Given the description of an element on the screen output the (x, y) to click on. 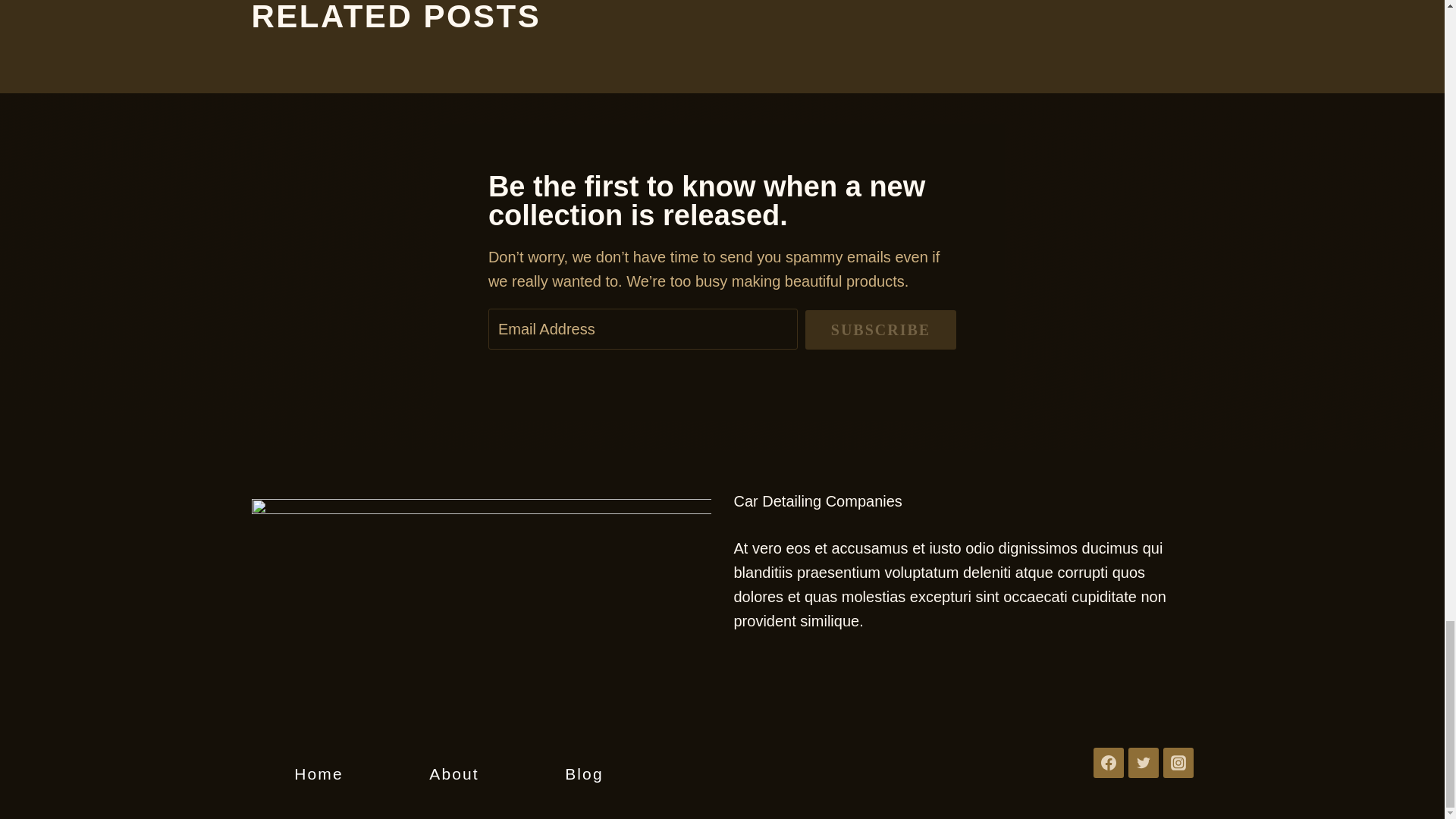
About (454, 773)
SUBSCRIBE (880, 329)
Home (318, 773)
